Given the description of an element on the screen output the (x, y) to click on. 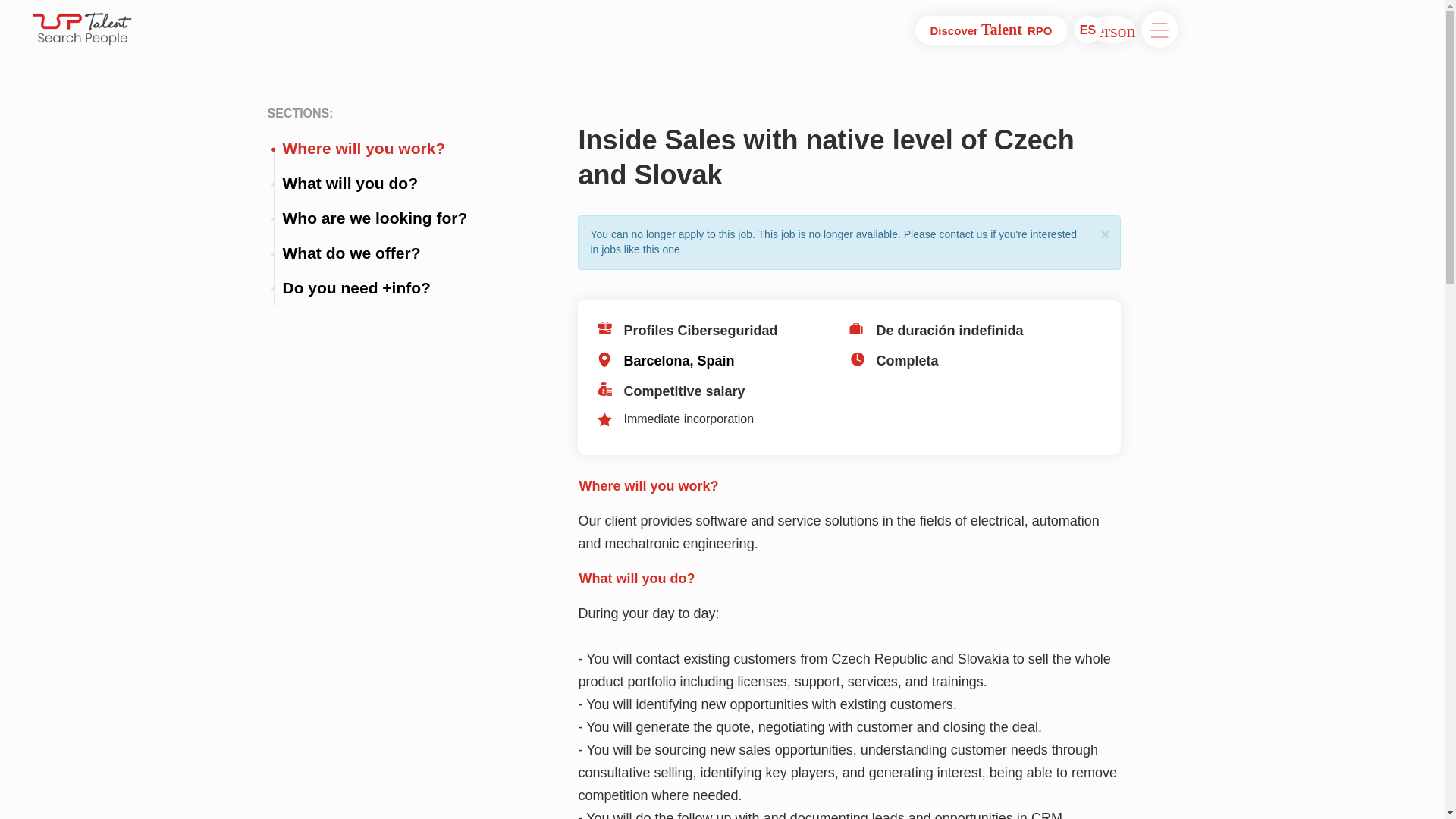
Barcelona, Spain (722, 360)
es (1087, 29)
What will you do? (374, 183)
ES (1087, 29)
Who are we looking for? (374, 217)
Discover Talent RPO (991, 30)
What do we offer? (374, 252)
person (1111, 29)
Where will you work? (374, 148)
